Given the description of an element on the screen output the (x, y) to click on. 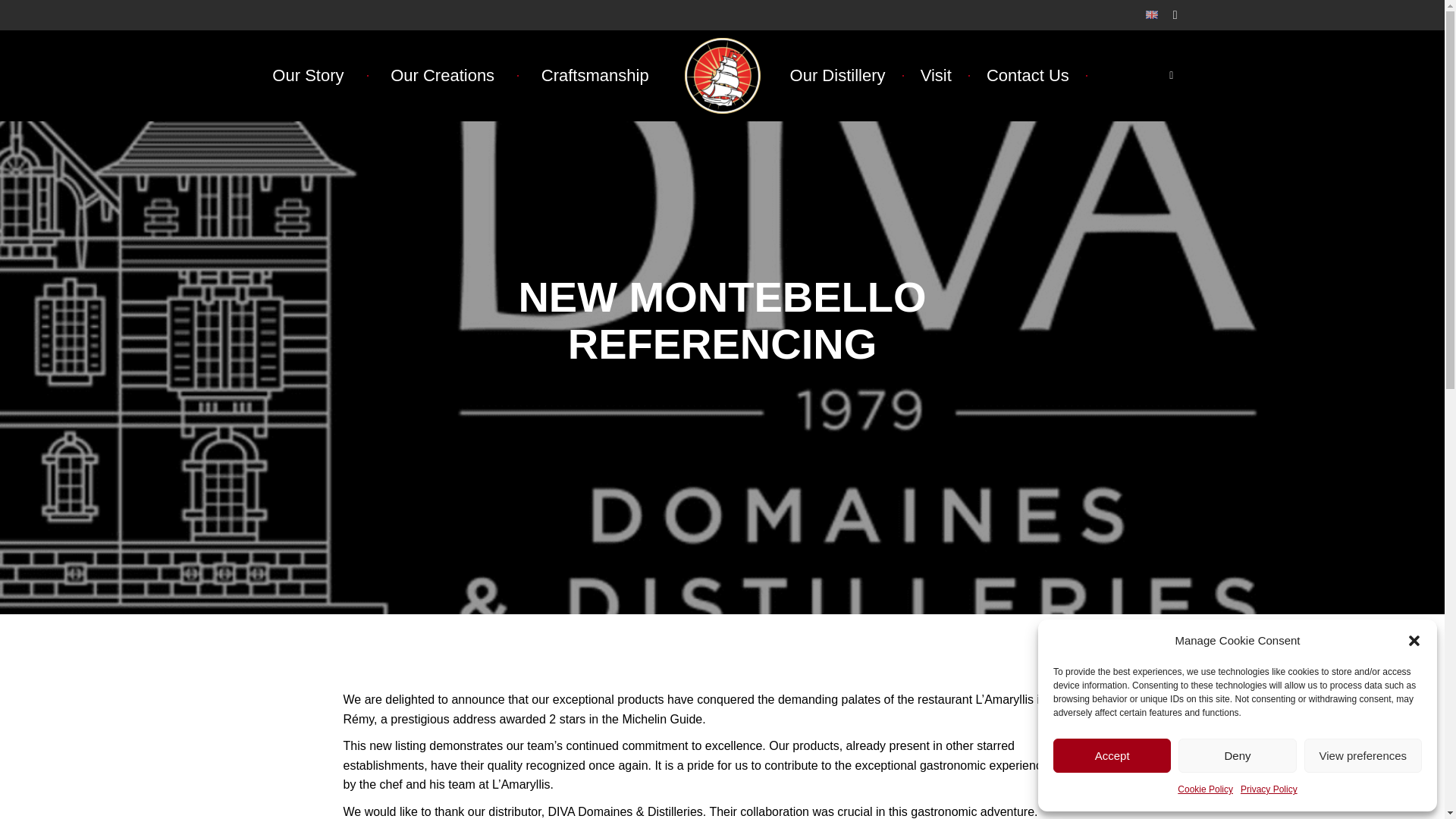
Our Distillery (837, 75)
Cookie Policy (1205, 790)
Craftsmanship (595, 75)
Go! (24, 15)
Our Creations (441, 75)
Deny (1236, 755)
Accept (1111, 755)
View preferences (1363, 755)
Our Story (307, 75)
Privacy Policy (1268, 790)
